Given the description of an element on the screen output the (x, y) to click on. 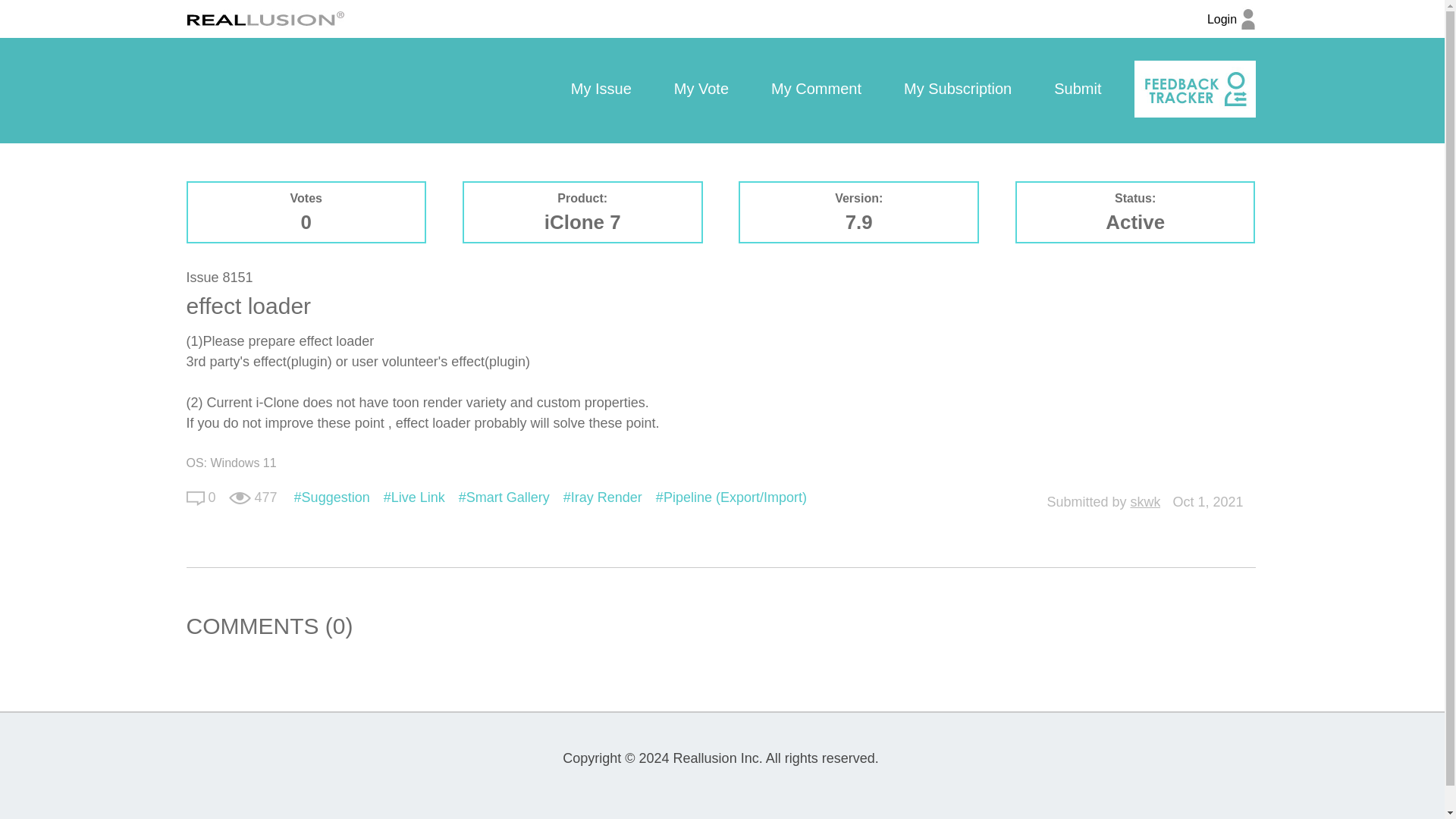
Smart Gallery (504, 497)
Live Link (414, 497)
Reallusion (266, 18)
Submit (1076, 89)
Feedback Tracker Home (1194, 88)
Suggestion (331, 497)
Views (239, 498)
Iray Render (602, 497)
Comments (195, 498)
My Subscription (957, 89)
